Given the description of an element on the screen output the (x, y) to click on. 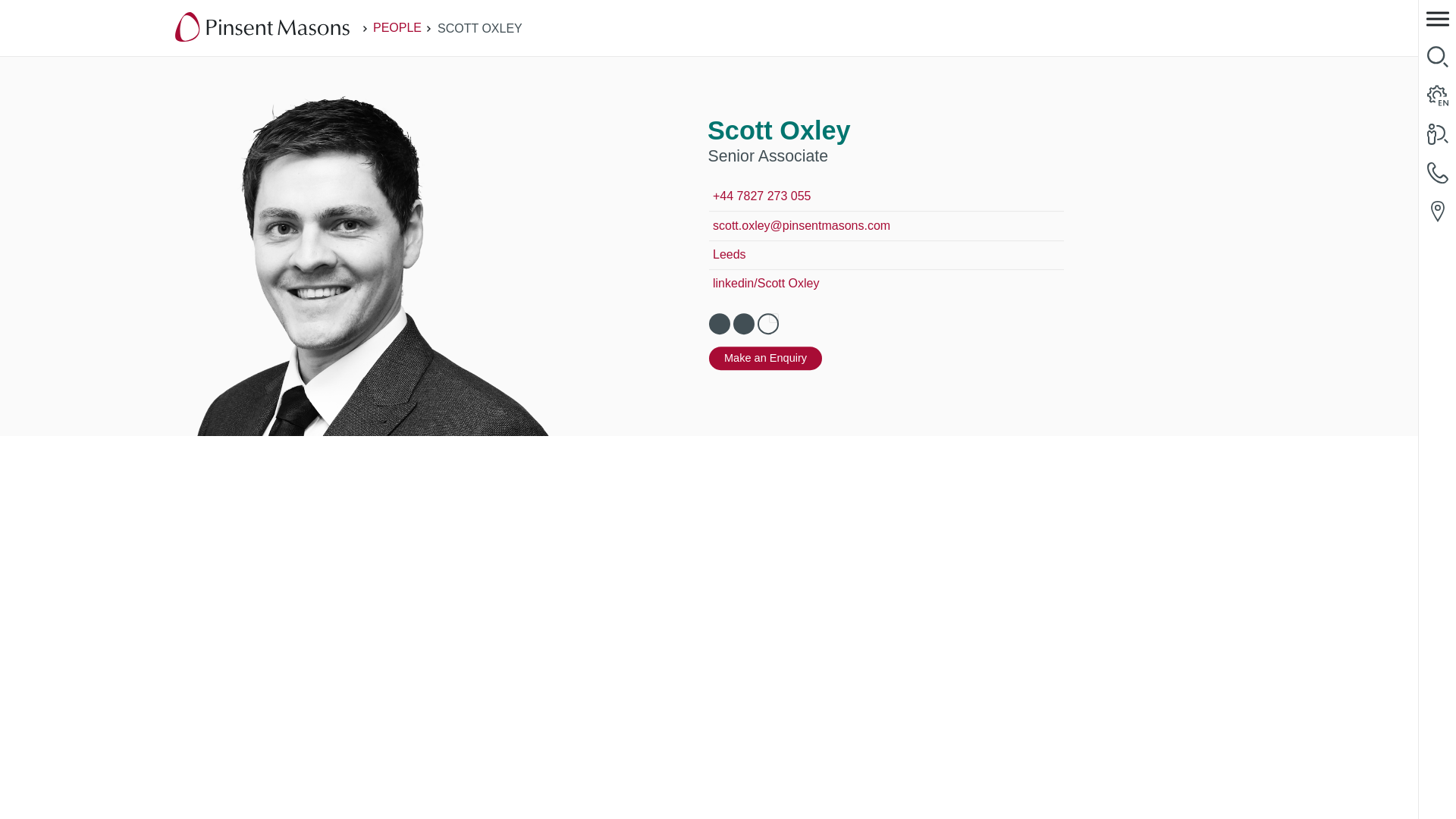
on (773, 318)
Pinsent Masons (262, 28)
Download VCard (743, 323)
Email (719, 323)
PEOPLE (397, 27)
Make an Enquiry (765, 358)
